Given the description of an element on the screen output the (x, y) to click on. 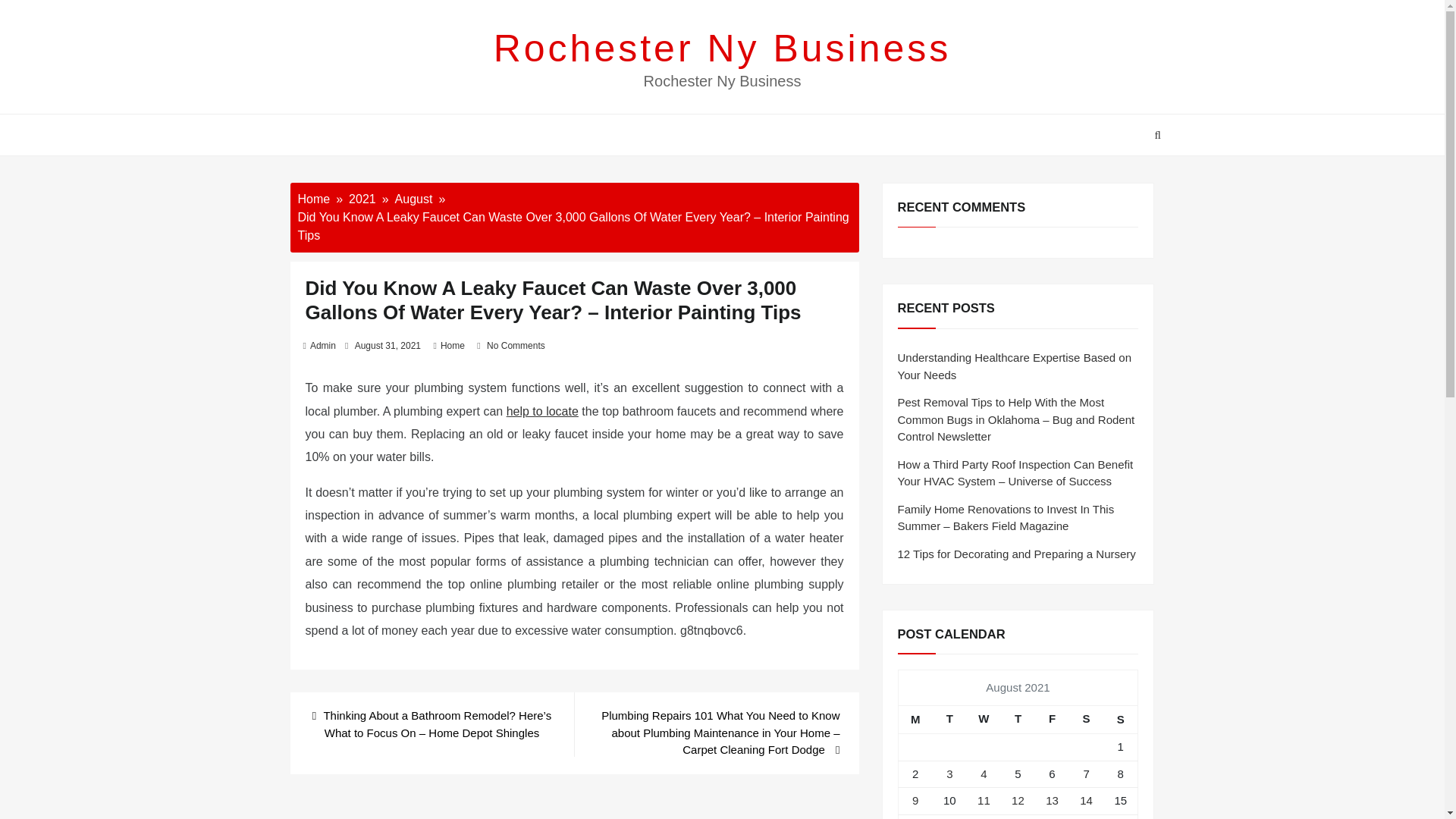
Rochester Ny Business (722, 48)
August 31, 2021 (387, 345)
14 (1086, 799)
Friday (1051, 719)
Sunday (1120, 719)
12 Tips for Decorating and Preparing a Nursery (1016, 553)
No Comments (515, 345)
Saturday (1085, 719)
11 (983, 799)
help to locate (542, 410)
12 (1018, 799)
August (413, 198)
Home (452, 345)
2021 (362, 198)
Understanding Healthcare Expertise Based on Your Needs (1015, 366)
